Given the description of an element on the screen output the (x, y) to click on. 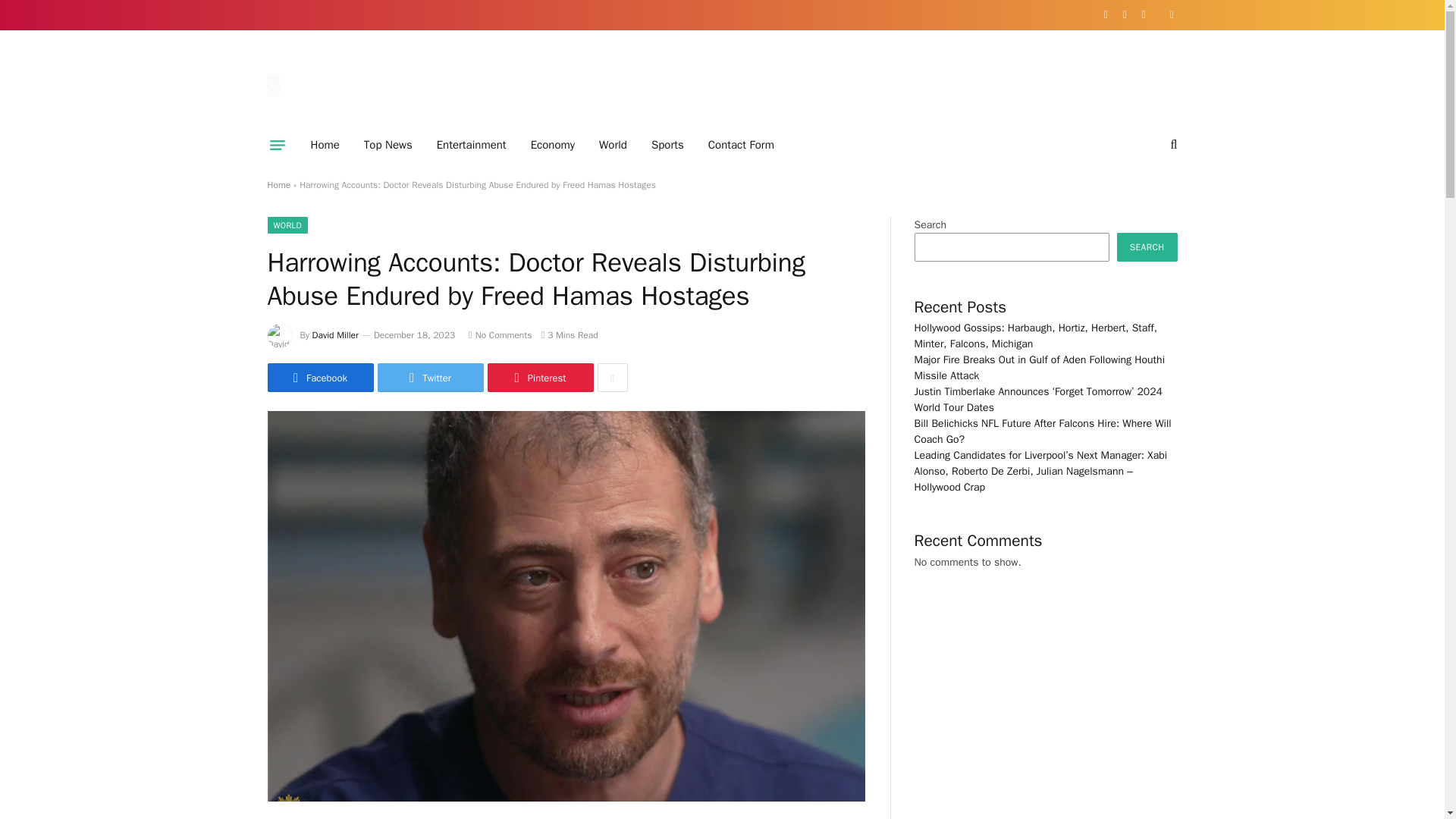
Pinterest (539, 377)
David Miller (335, 335)
Home (325, 144)
Entertainment (471, 144)
Share on Pinterest (539, 377)
No Comments (499, 335)
Sports (667, 144)
Facebook (319, 377)
Twitter (430, 377)
Contact Form (740, 144)
Top News (388, 144)
Share on Facebook (319, 377)
World (612, 144)
Economy (552, 144)
Home (277, 184)
